Given the description of an element on the screen output the (x, y) to click on. 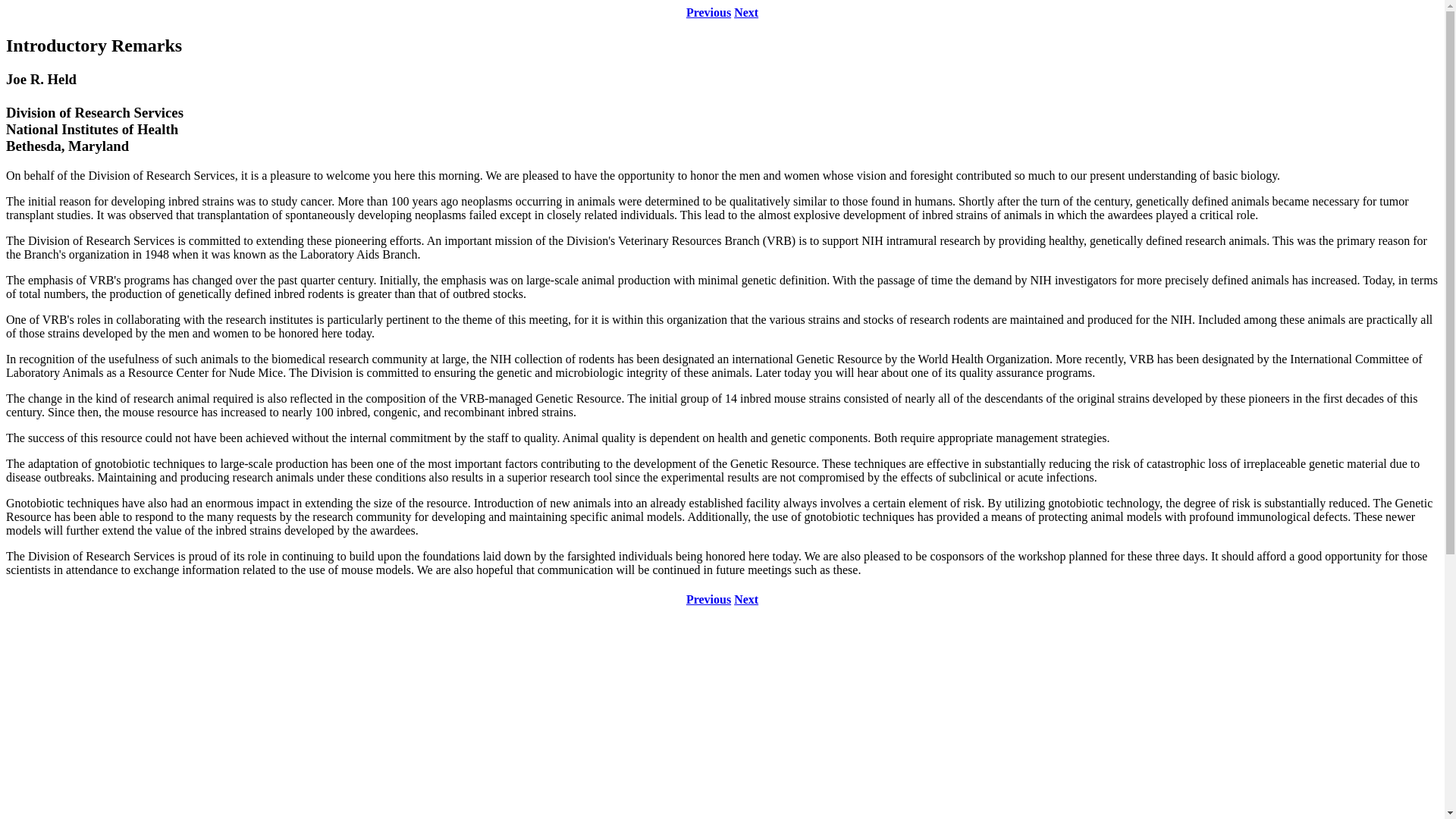
Previous (707, 11)
Next (745, 599)
Next (745, 11)
Previous (707, 599)
